Given the description of an element on the screen output the (x, y) to click on. 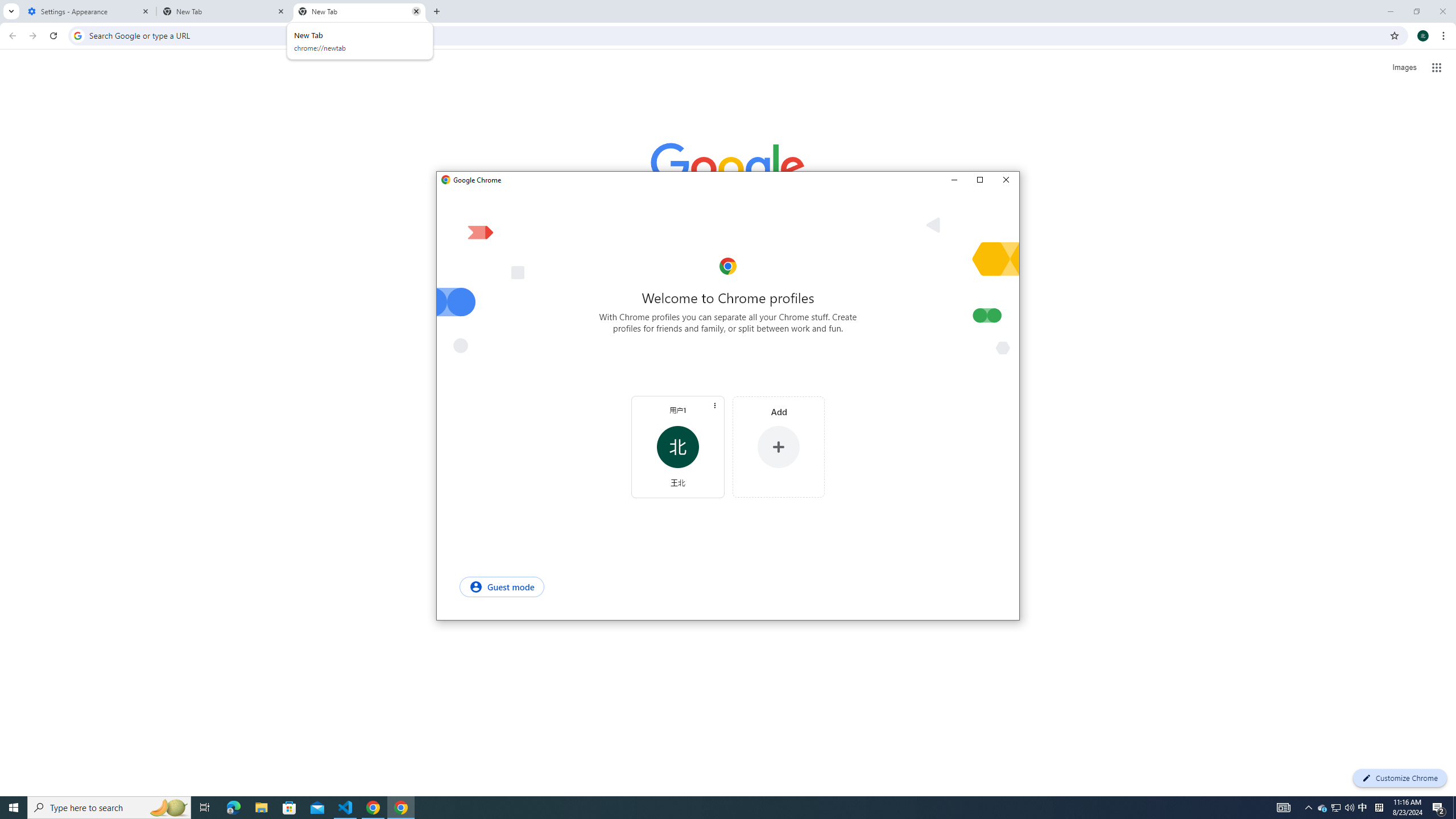
Google Chrome - 1 running window (400, 807)
Type here to search (108, 807)
Tray Input Indicator - Chinese (Simplified, China) (1378, 807)
Action Center, 2 new notifications (1439, 807)
User Promoted Notification Area (1335, 807)
Visual Studio Code - 1 running window (1336, 807)
Maximize (345, 807)
